Given the description of an element on the screen output the (x, y) to click on. 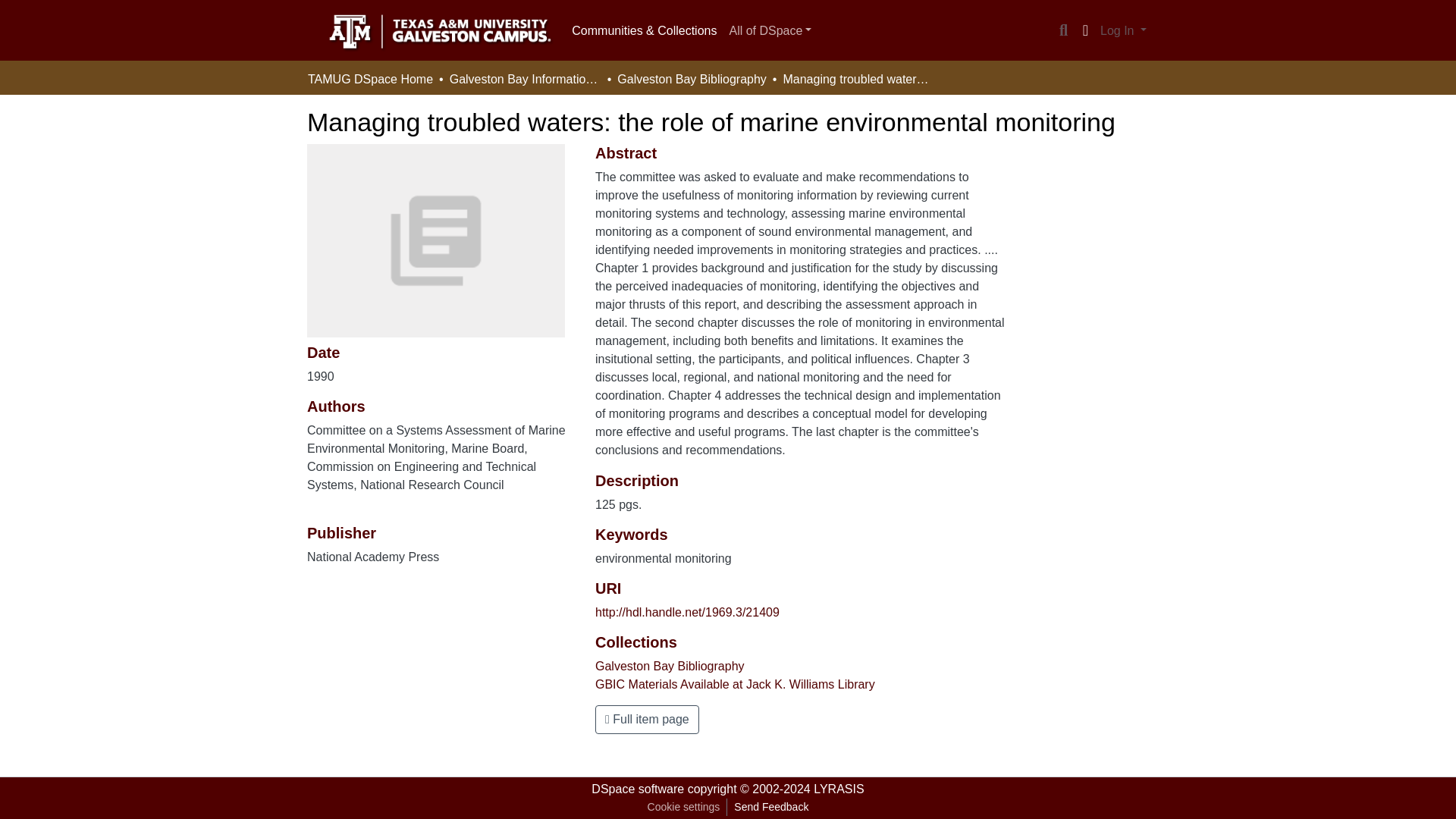
GBIC Materials Available at Jack K. Williams Library (735, 684)
Search (1063, 30)
Log In (1122, 30)
DSpace software (637, 788)
Galveston Bay Information Collection (525, 79)
Galveston Bay Bibliography (692, 79)
TAMUG DSpace Home (369, 79)
All of DSpace (769, 30)
Send Feedback (770, 806)
Language switch (1084, 30)
Cookie settings (683, 806)
Galveston Bay Bibliography (669, 666)
Full item page (646, 719)
LYRASIS (838, 788)
